Given the description of an element on the screen output the (x, y) to click on. 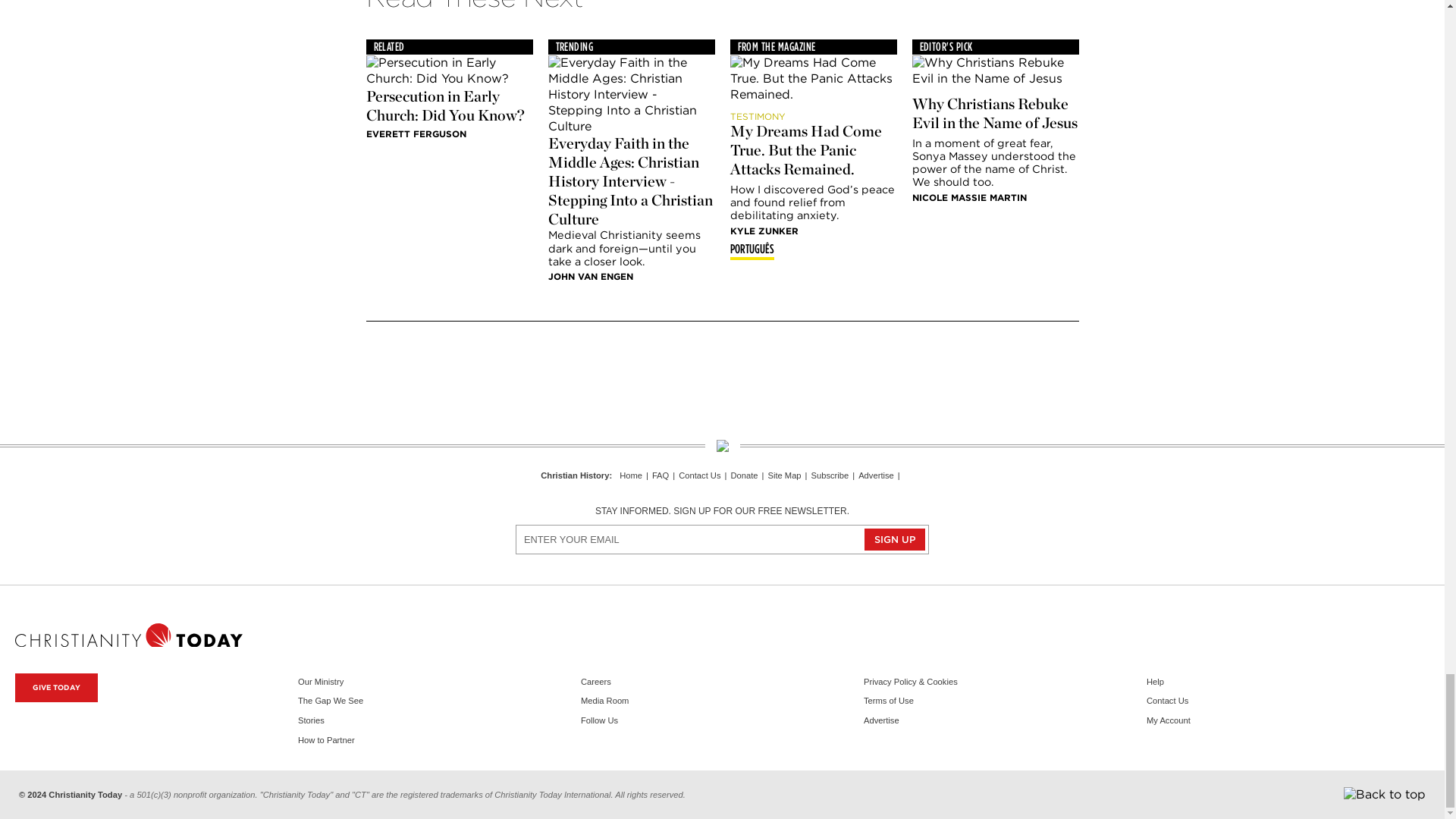
Sign Up (894, 539)
